Given the description of an element on the screen output the (x, y) to click on. 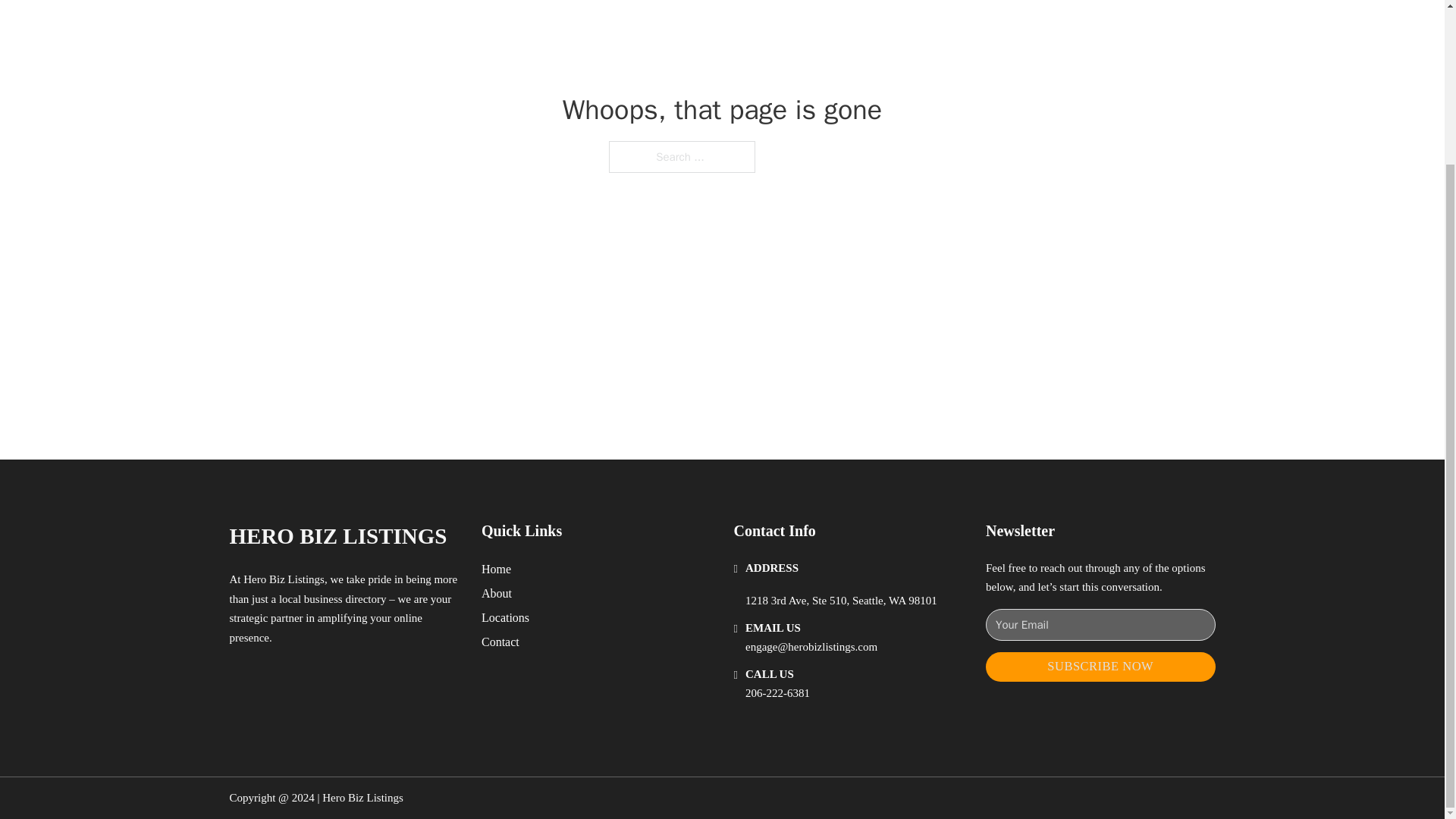
About (496, 593)
SUBSCRIBE NOW (1100, 666)
Home (496, 568)
206-222-6381 (777, 693)
HERO BIZ LISTINGS (337, 536)
Locations (505, 617)
Contact (500, 641)
